Given the description of an element on the screen output the (x, y) to click on. 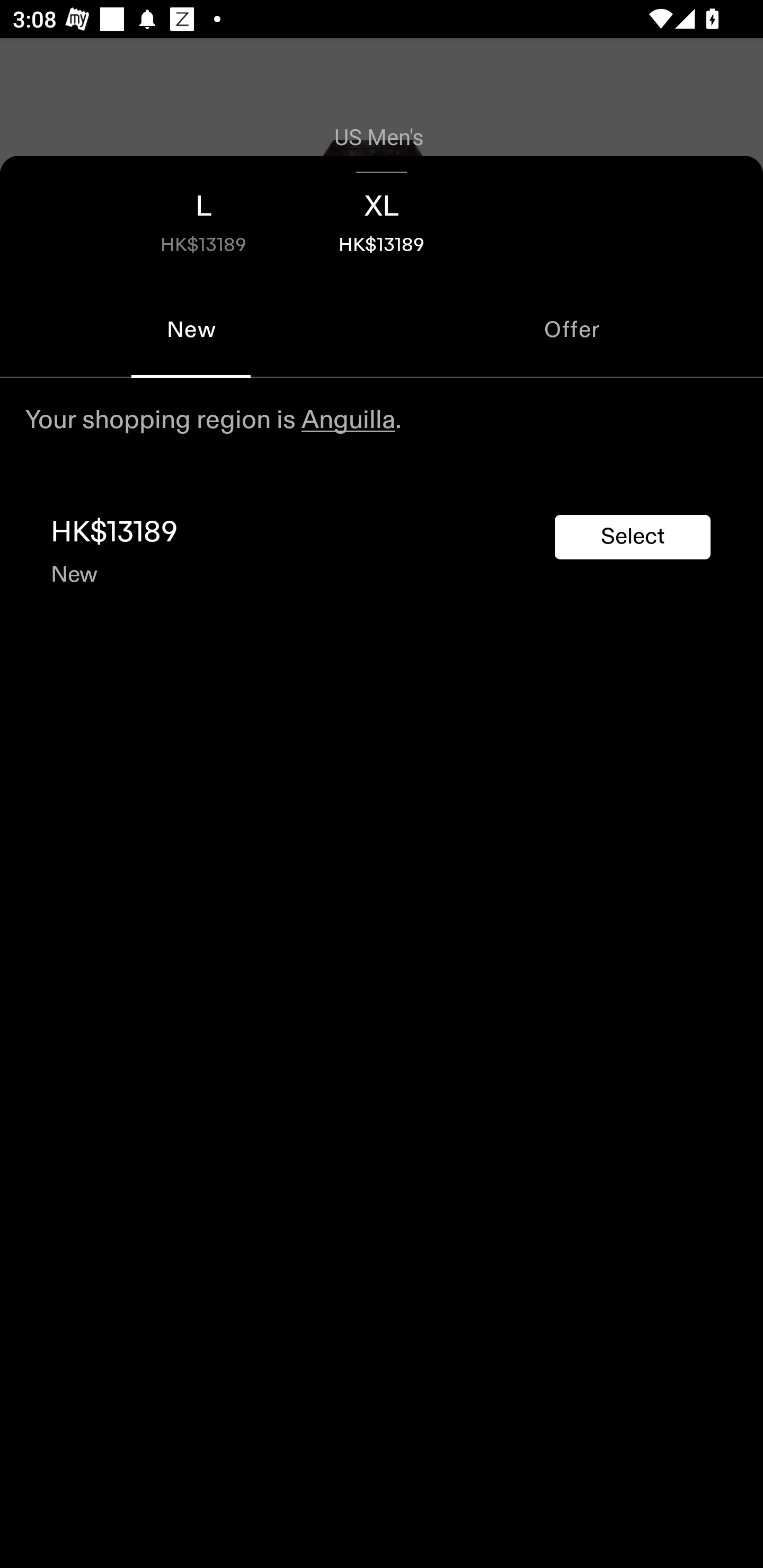
L HK$13189 (203, 218)
XL HK$13189 (381, 218)
Offer (572, 329)
Select (632, 536)
